Given the description of an element on the screen output the (x, y) to click on. 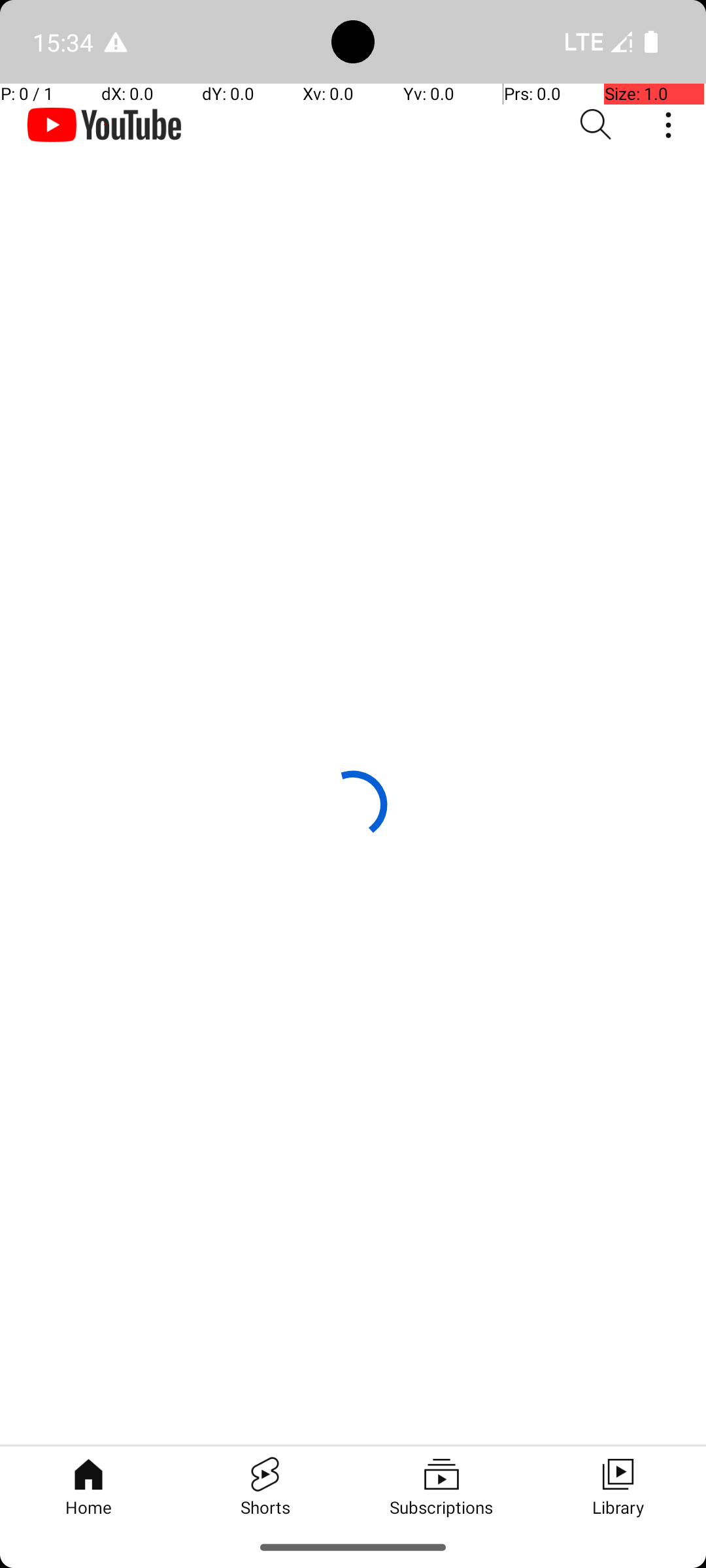
Shorts Element type: android.widget.Button (264, 1485)
Subscriptions Element type: android.widget.Button (441, 1485)
Library Element type: android.widget.Button (617, 1485)
